Given the description of an element on the screen output the (x, y) to click on. 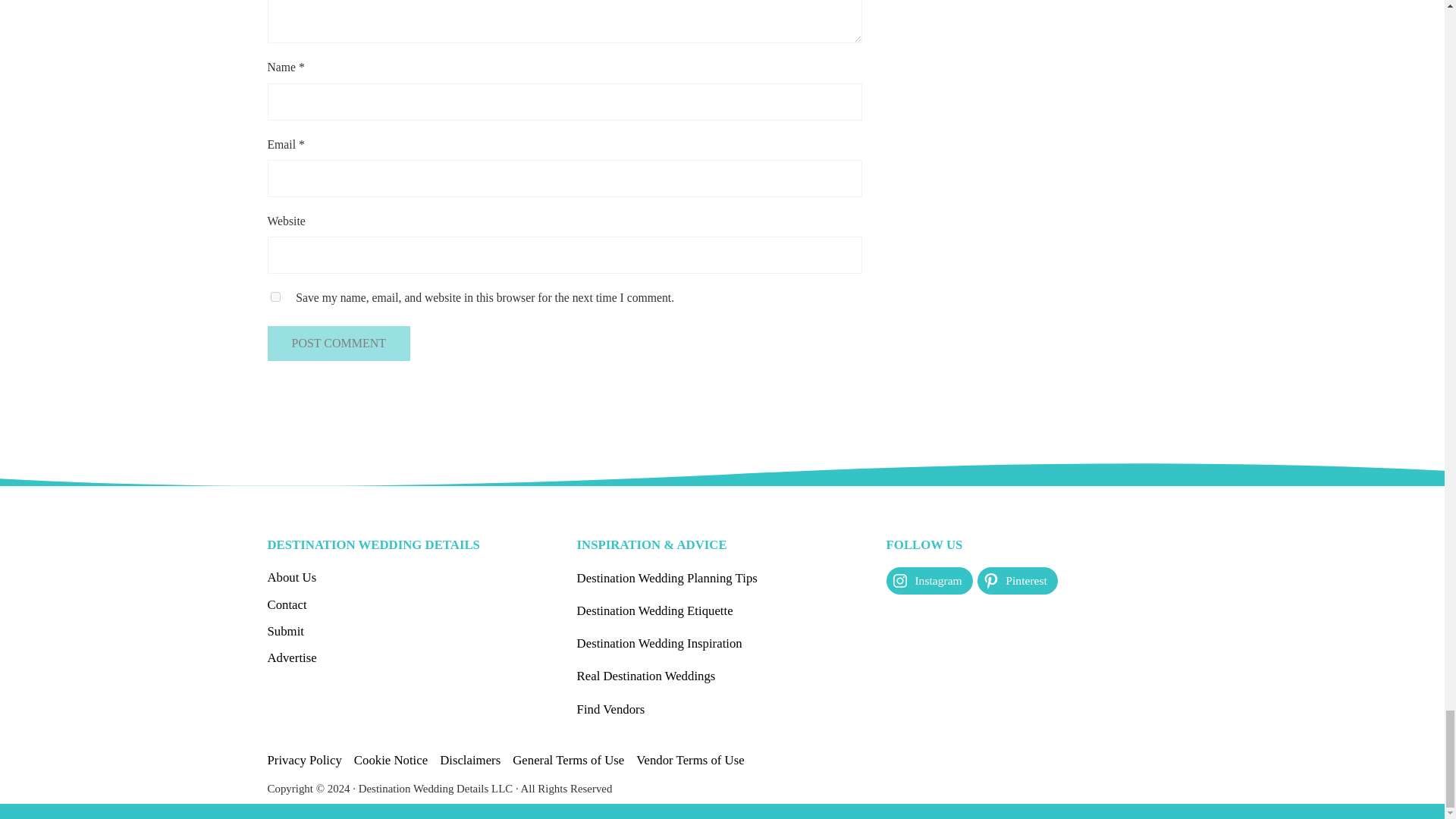
Post Comment (338, 343)
yes (274, 296)
